Given the description of an element on the screen output the (x, y) to click on. 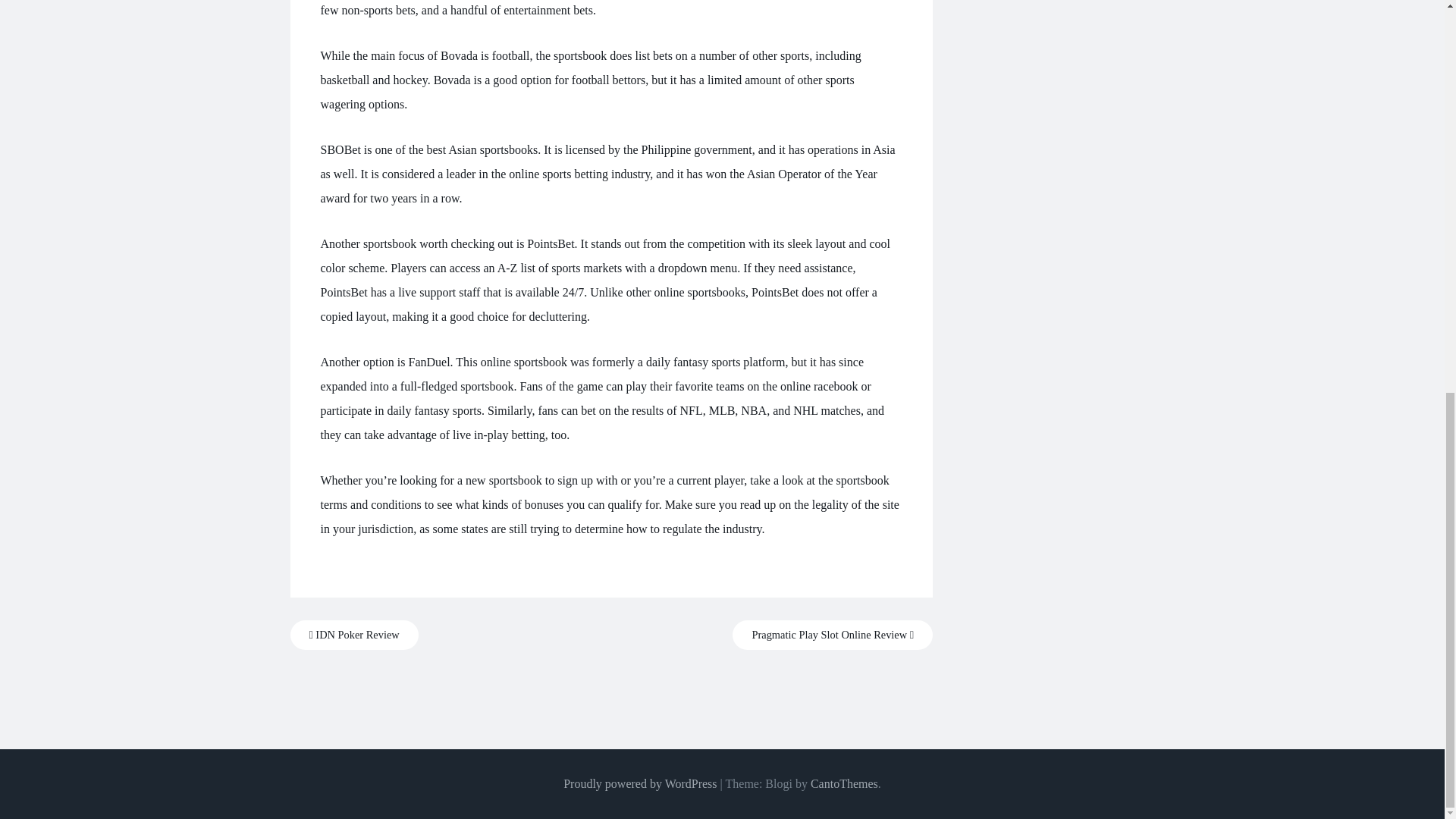
IDN Poker Review (353, 634)
Proudly powered by WordPress (639, 783)
CantoThemes (843, 783)
Pragmatic Play Slot Online Review (832, 634)
